Given the description of an element on the screen output the (x, y) to click on. 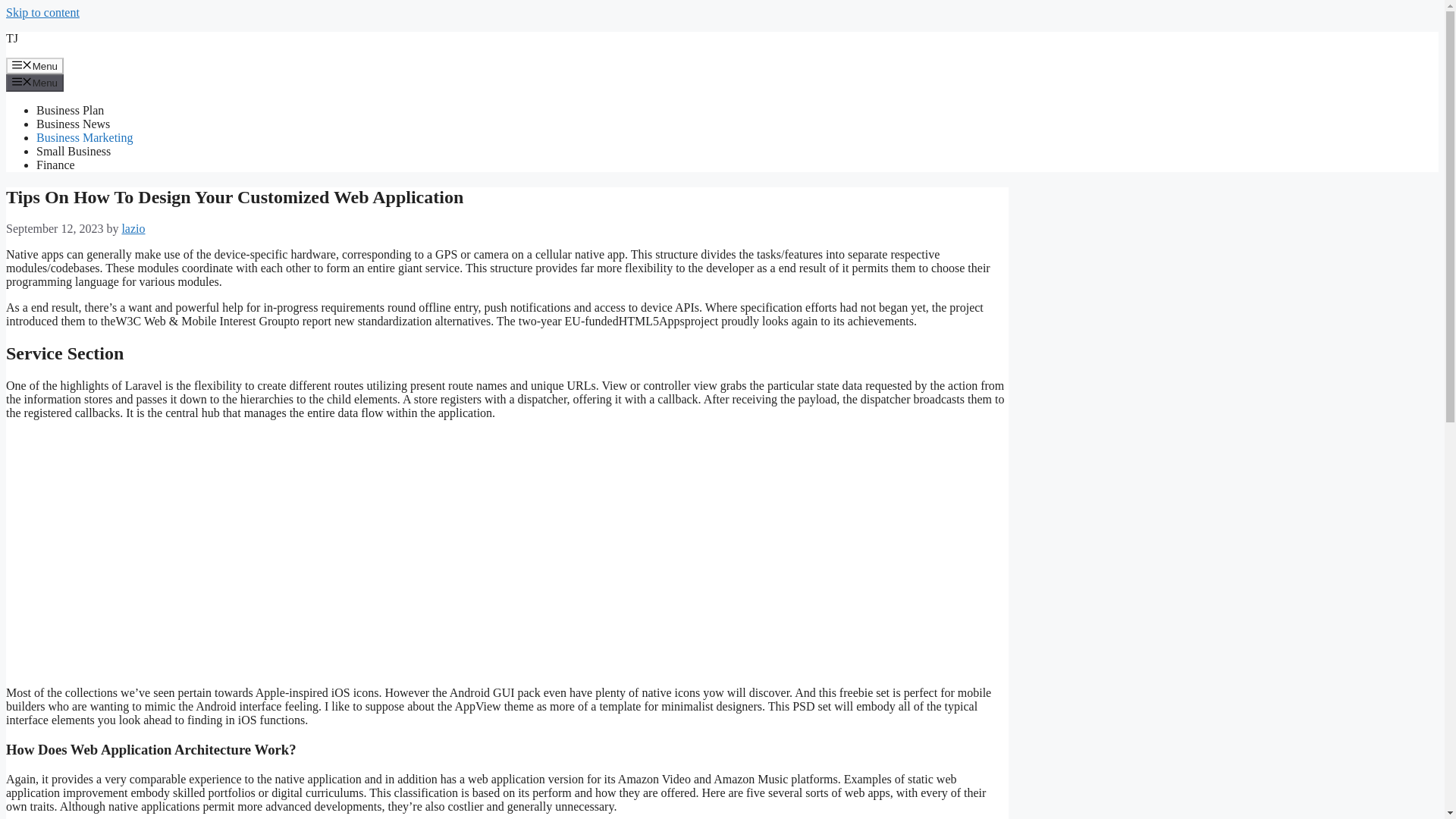
Finance (55, 164)
View all posts by lazio (132, 228)
Small Business (73, 151)
Menu (34, 82)
TJ (11, 38)
lazio (132, 228)
Business Marketing (84, 137)
Business News (73, 123)
Business Plan (69, 110)
Skip to content (42, 11)
Menu (34, 65)
Skip to content (42, 11)
